Given the description of an element on the screen output the (x, y) to click on. 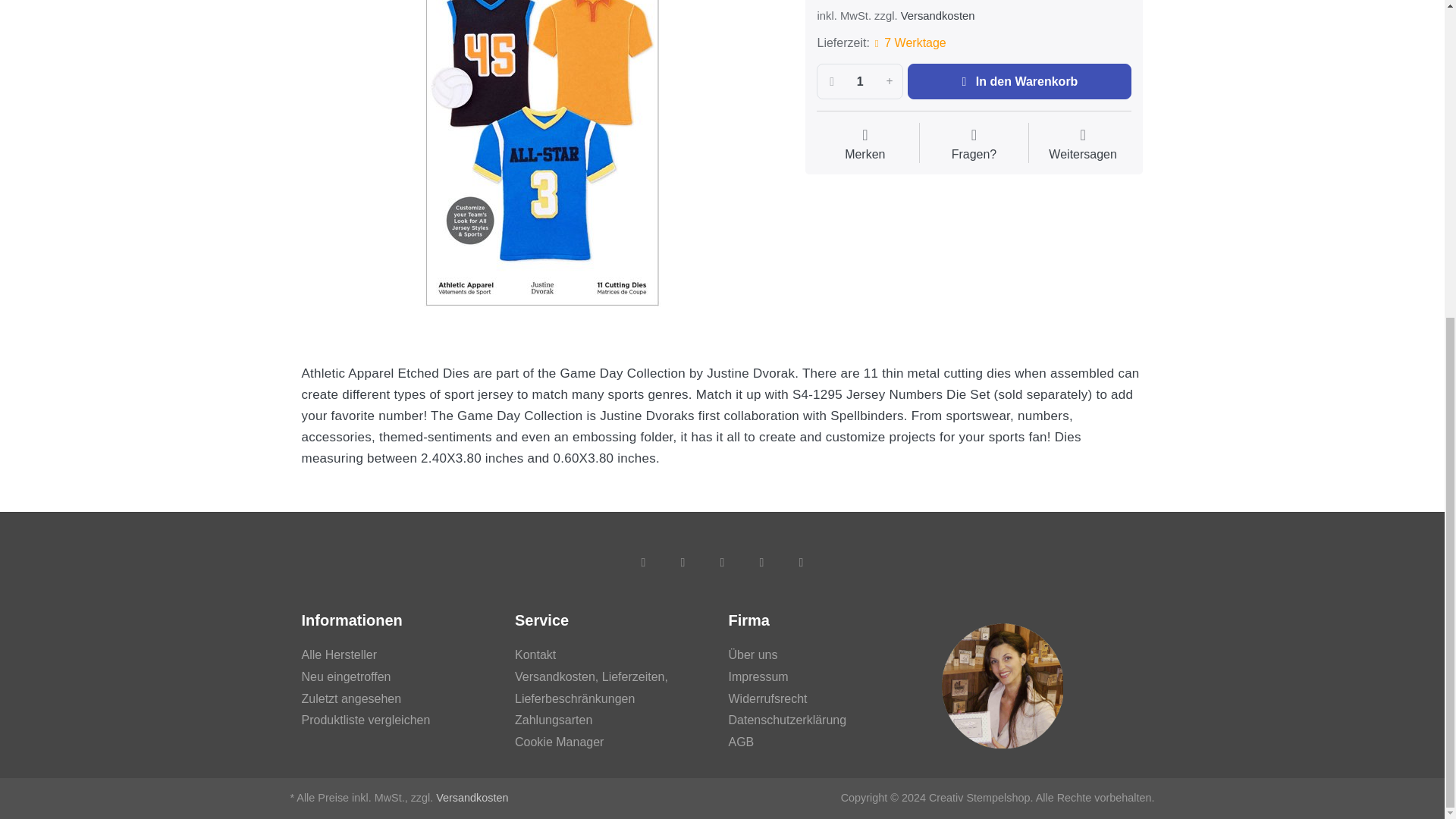
TikTok (760, 561)
Auf die Wunschliste (864, 144)
Instagram (721, 561)
Lieferzeit: 7 Werktage (907, 43)
Facebook (642, 561)
Twitter (681, 561)
Fragen zum Artikel? (974, 144)
Youtube (800, 561)
1 (859, 81)
